Given the description of an element on the screen output the (x, y) to click on. 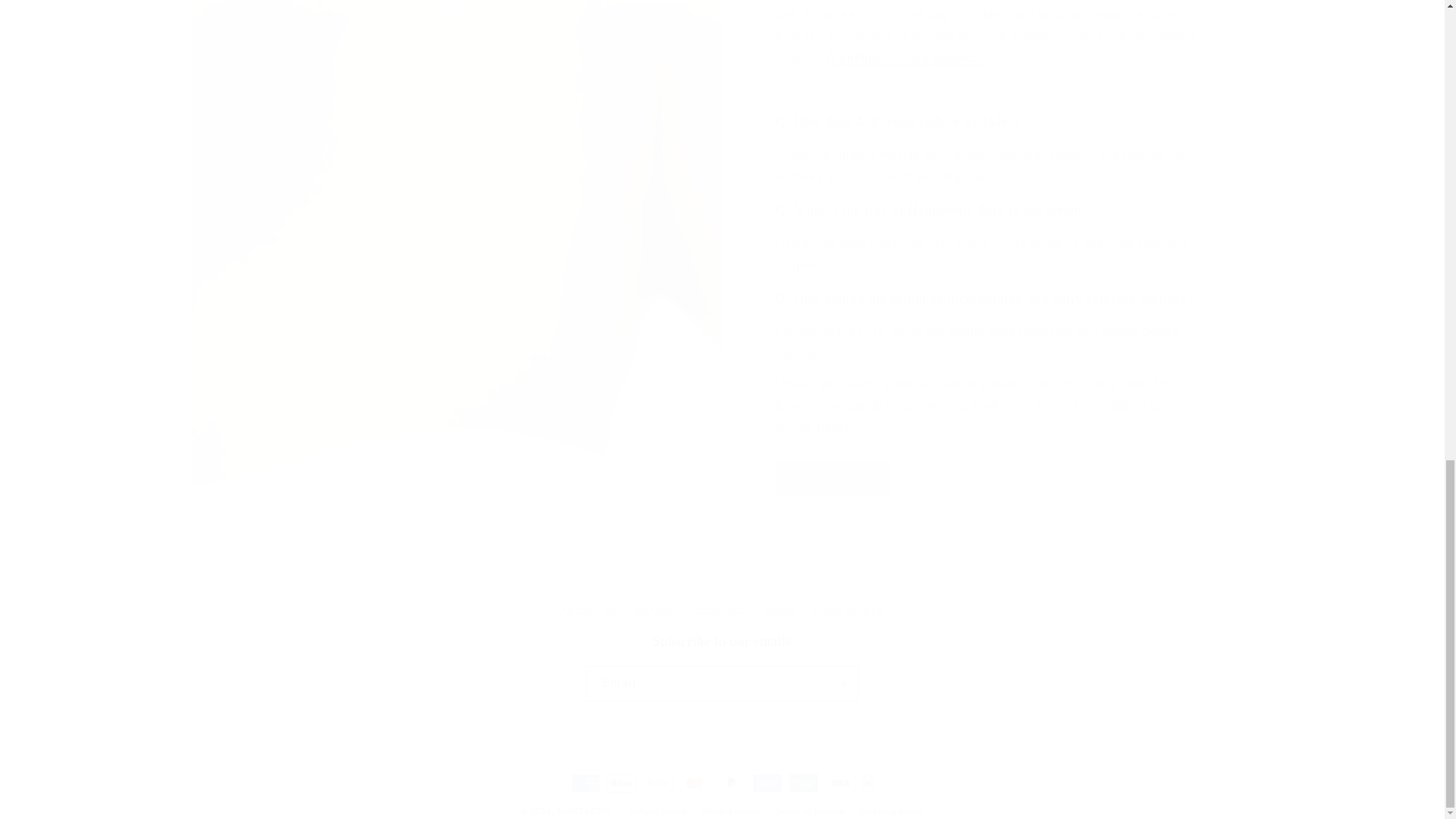
Button label (831, 478)
Argireline-infused products (721, 667)
ABOUT US SEARCH CONTACT SHOP BLOG POSTS (905, 57)
ABOUT US SEARCH CONTACT SHOP BLOG POSTS (721, 596)
ABOUT US (721, 611)
